Given the description of an element on the screen output the (x, y) to click on. 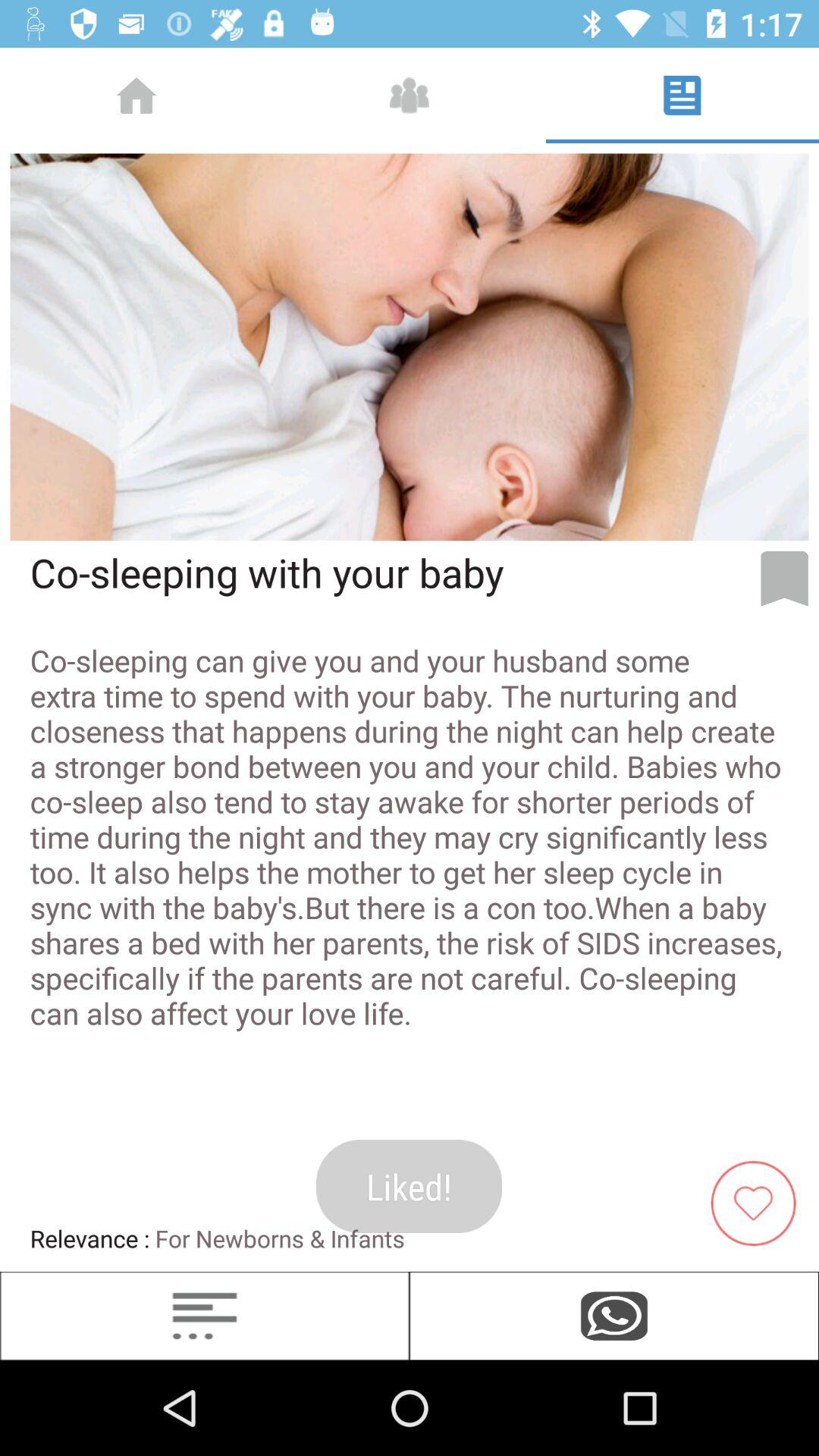
tag item as liked (759, 1201)
